Given the description of an element on the screen output the (x, y) to click on. 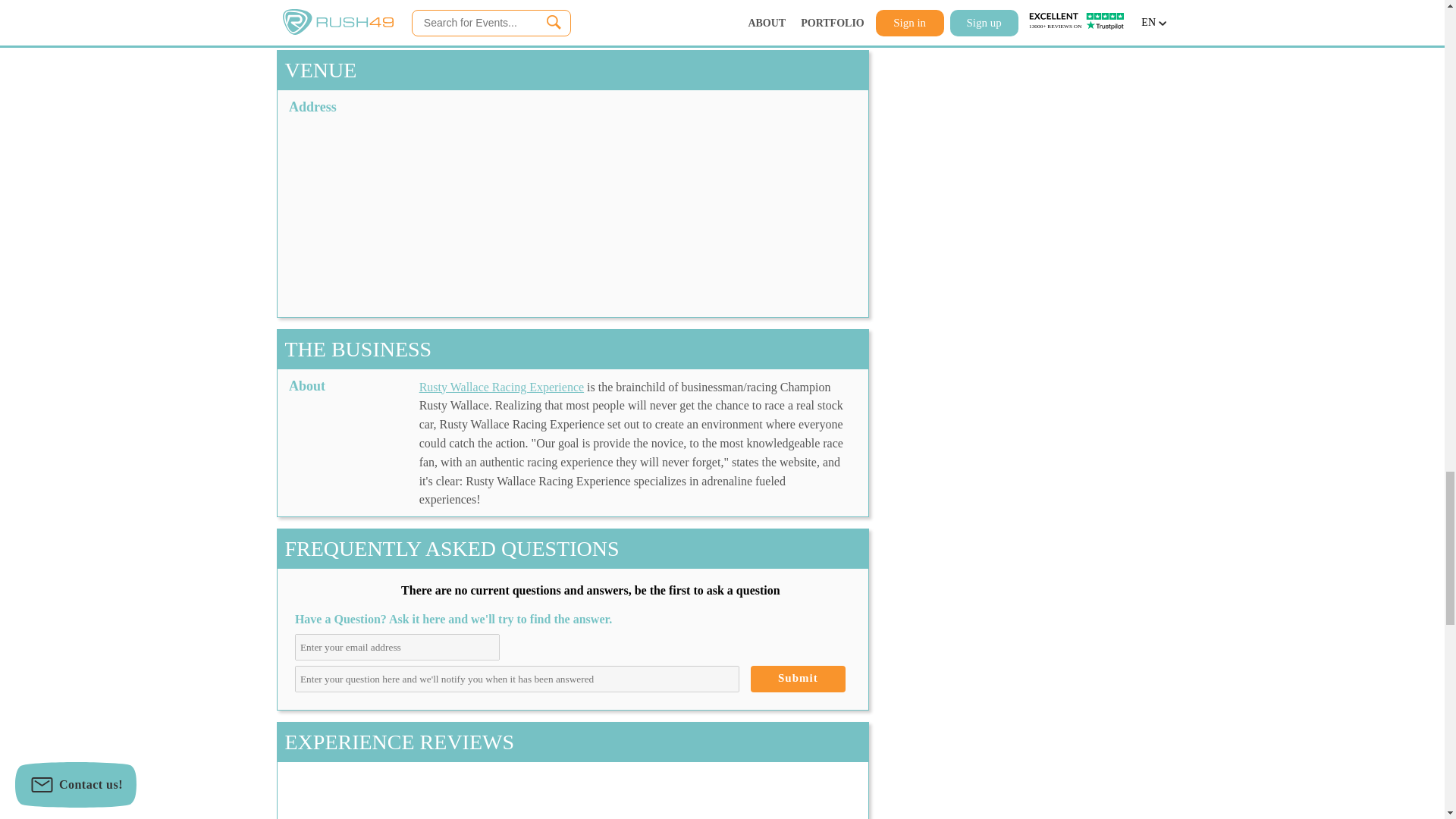
Submit (798, 678)
Rusty Wallace Racing Experience (501, 386)
